Given the description of an element on the screen output the (x, y) to click on. 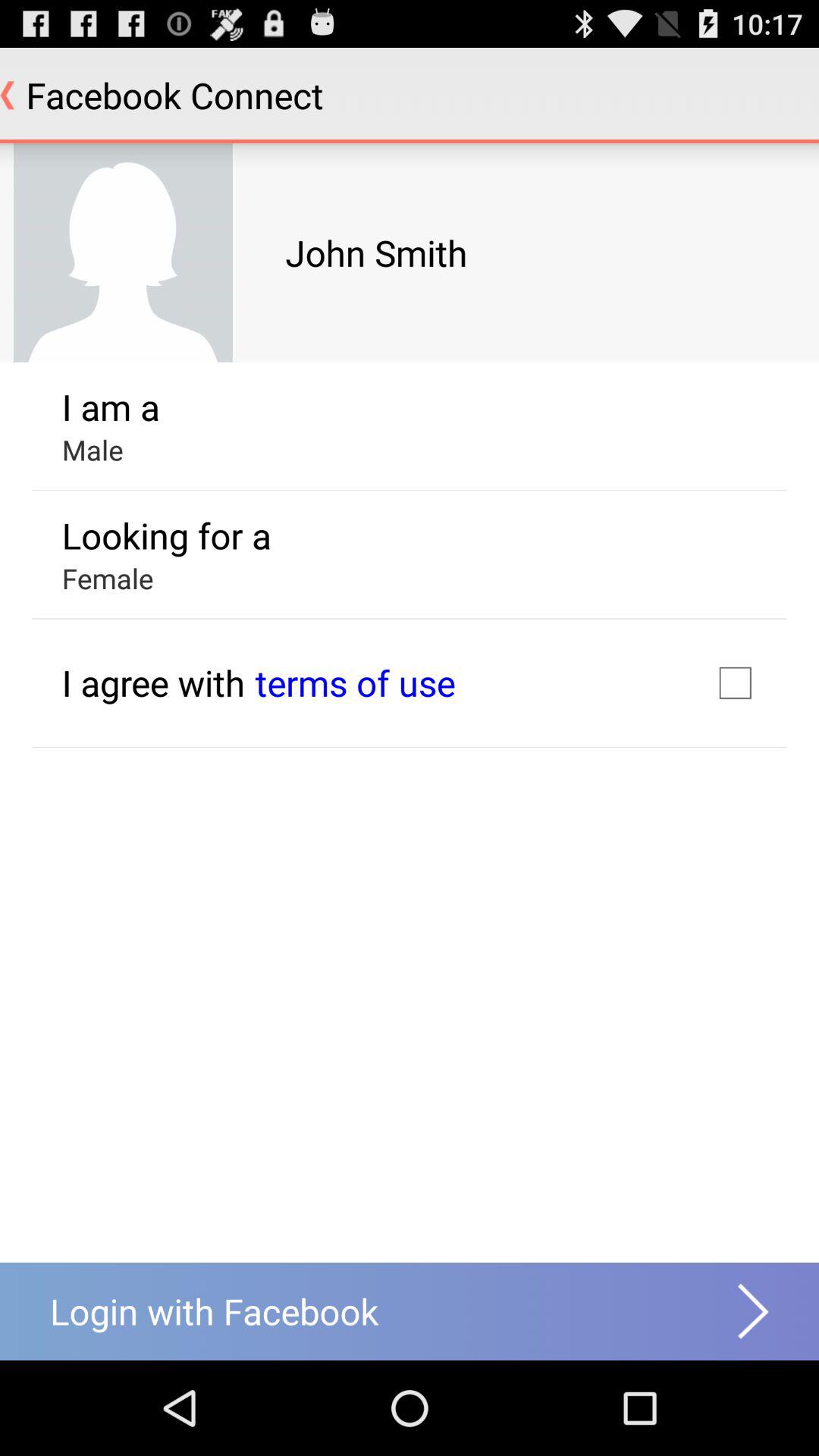
turn off the icon to the left of the terms of use item (153, 682)
